Given the description of an element on the screen output the (x, y) to click on. 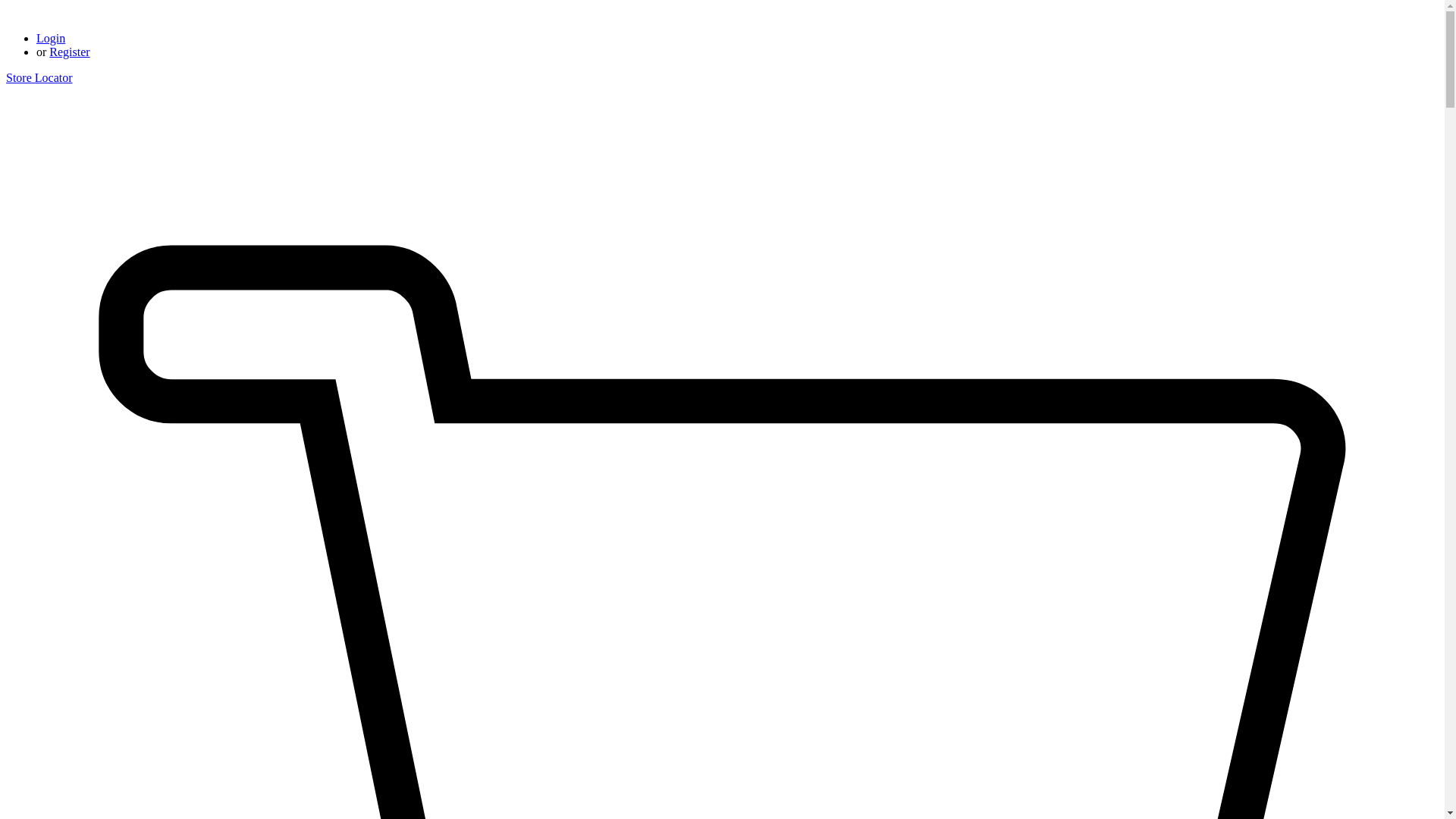
Store Locator (38, 77)
Login (50, 38)
Register (68, 51)
Store Locator (38, 77)
